Given the description of an element on the screen output the (x, y) to click on. 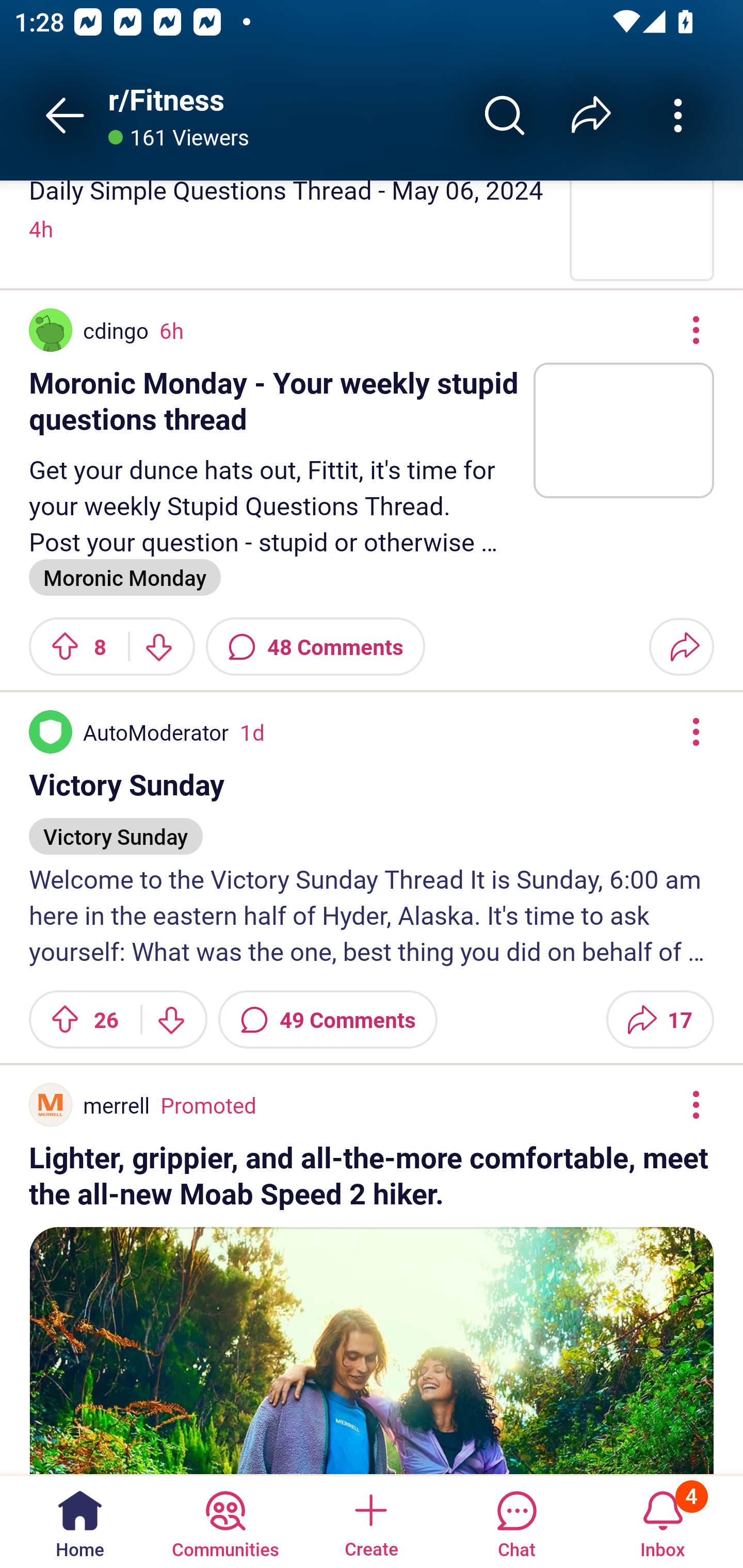
Back (64, 115)
Search r/﻿Fitness (504, 115)
Share r/﻿Fitness (591, 115)
More community actions (677, 115)
Moronic Monday (124, 575)
Victory Sunday (115, 827)
Home (80, 1520)
Communities (225, 1520)
Create a post Create (370, 1520)
Chat (516, 1520)
Inbox, has 4 notifications 4 Inbox (662, 1520)
